Given the description of an element on the screen output the (x, y) to click on. 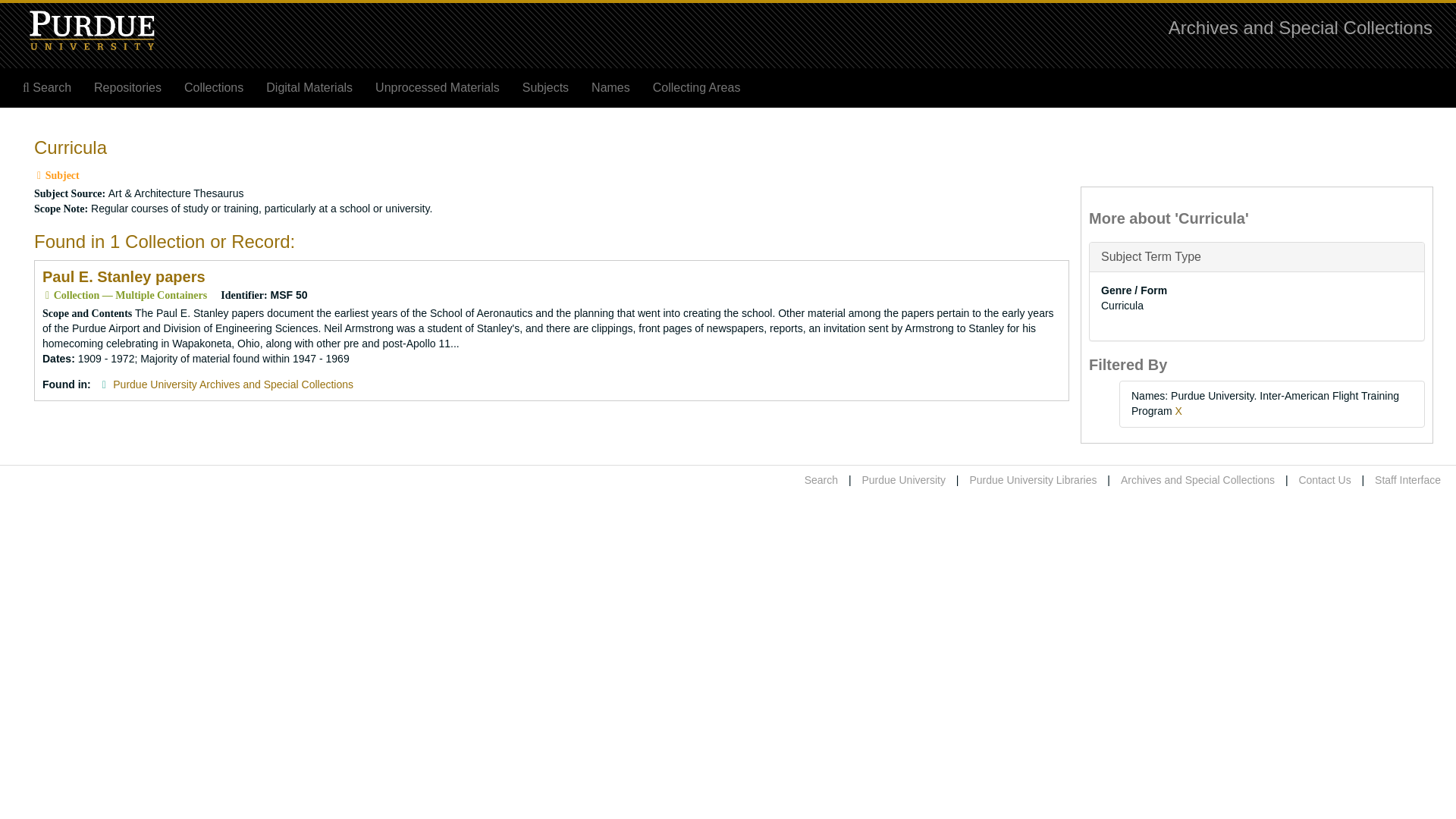
Search (46, 87)
Search Archives (46, 87)
Purdue University Libraries (1032, 480)
Purdue University Home (902, 480)
Repositories (127, 87)
Names (610, 87)
Subjects (545, 87)
Paul E. Stanley papers (123, 276)
Archives and Special Collections (1198, 480)
Purdue University Libraries Home (1032, 480)
